Given the description of an element on the screen output the (x, y) to click on. 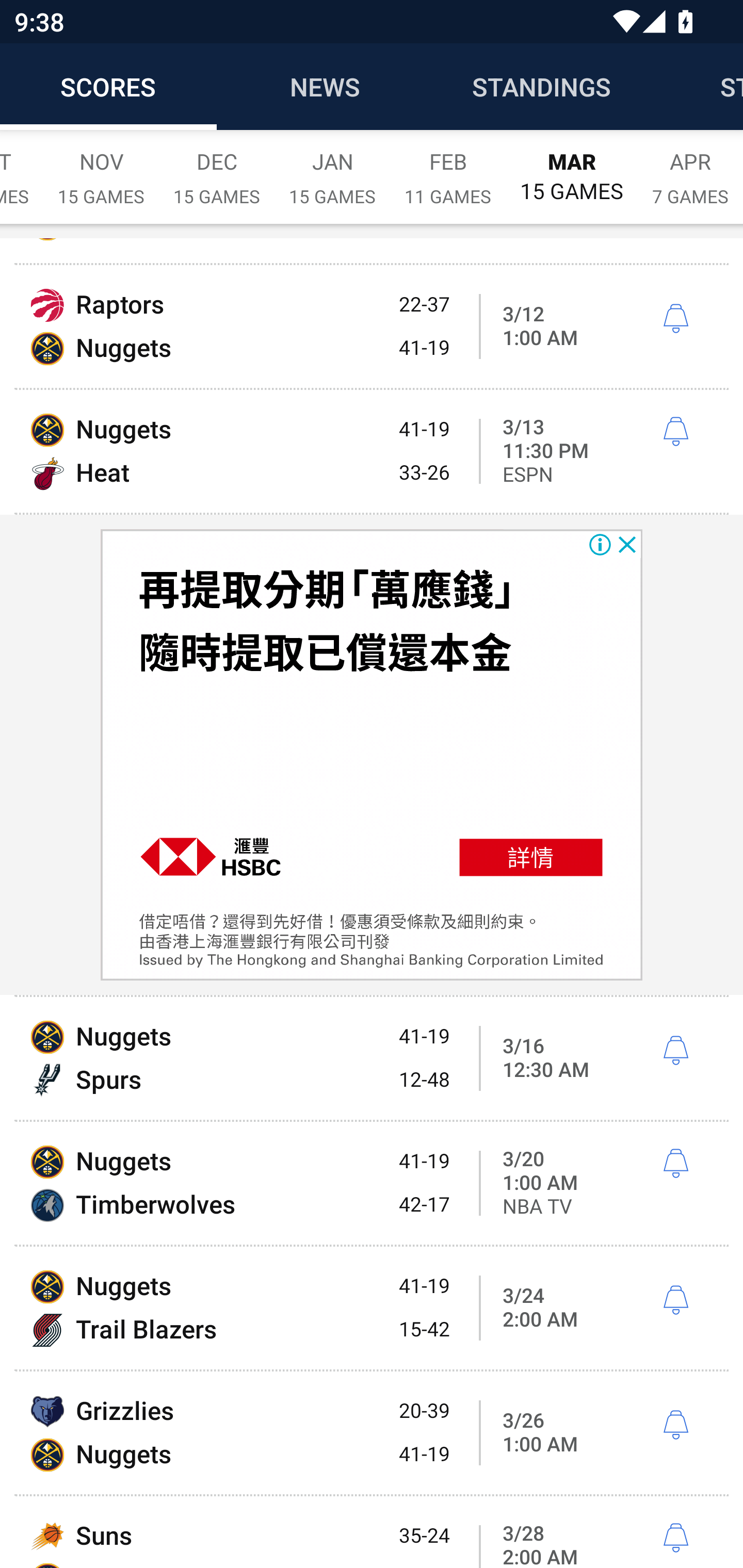
News NEWS (324, 86)
Standings STANDINGS (541, 86)
NOV 15 GAMES (101, 167)
DEC 15 GAMES (216, 167)
JAN 15 GAMES (332, 167)
FEB 11 GAMES (447, 167)
MAR 15 GAMES (571, 167)
APR 7 GAMES (690, 167)
Raptors 22-37 Nuggets 41-19 3/12 1:00 AM í (371, 325)
í (675, 318)
Nuggets 41-19 Heat 33-26 3/13 11:30 PM í ESPN (371, 451)
í (675, 431)
300x250 (371, 755)
Nuggets 41-19 Spurs 12-48 3/16 12:30 AM í (371, 1058)
í (675, 1050)
í (675, 1163)
Nuggets 41-19 Trail Blazers 15-42 3/24 2:00 AM í (371, 1307)
í (675, 1300)
Grizzlies 20-39 Nuggets 41-19 3/26 1:00 AM í (371, 1433)
í (675, 1424)
Suns 35-24 Nuggets 41-19 3/28 2:00 AM í (371, 1531)
í (675, 1537)
